Given the description of an element on the screen output the (x, y) to click on. 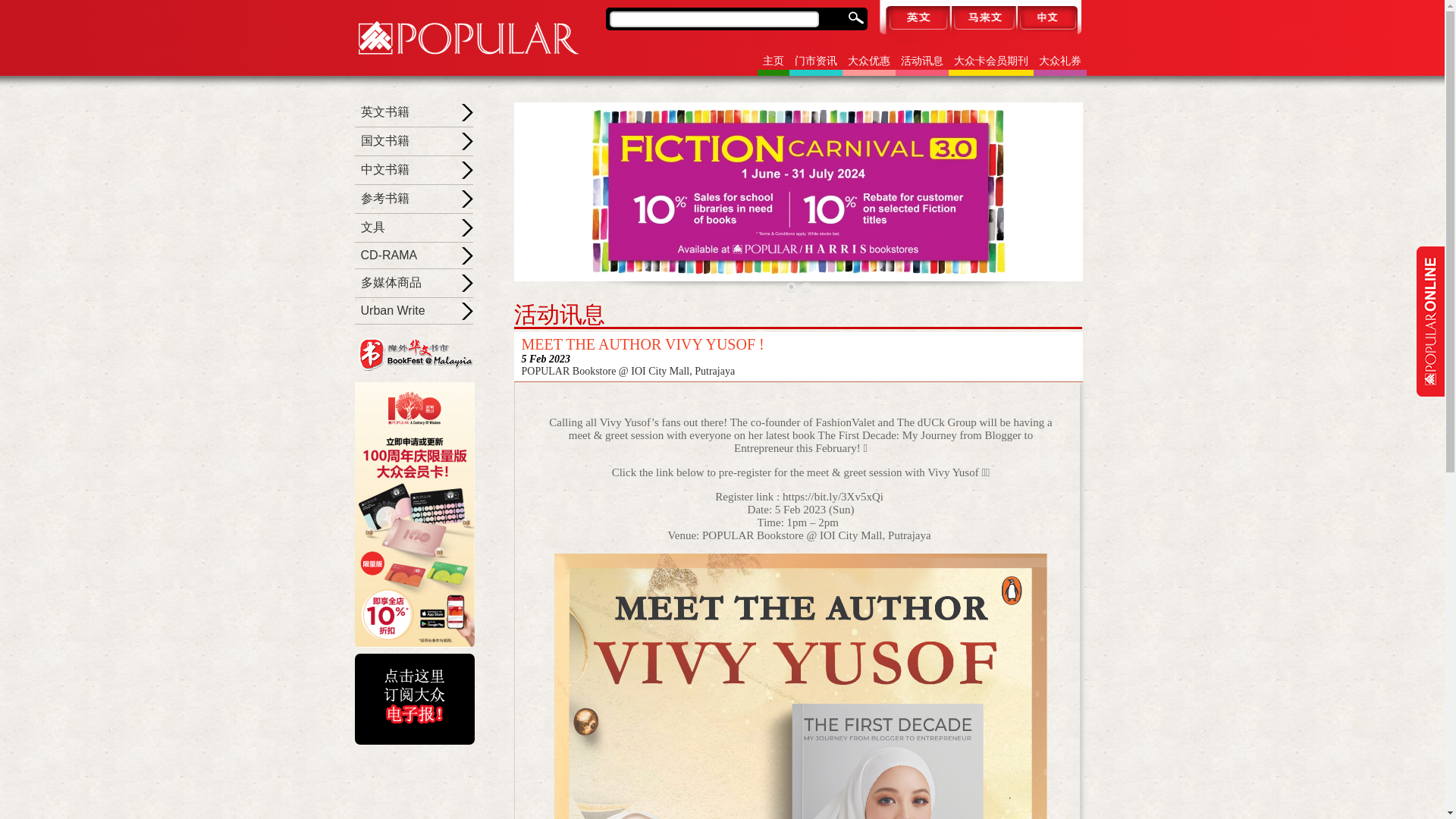
CD-RAMA (389, 254)
2 (805, 286)
e-newsletter (414, 698)
Urban Write (393, 309)
1 (791, 286)
